Given the description of an element on the screen output the (x, y) to click on. 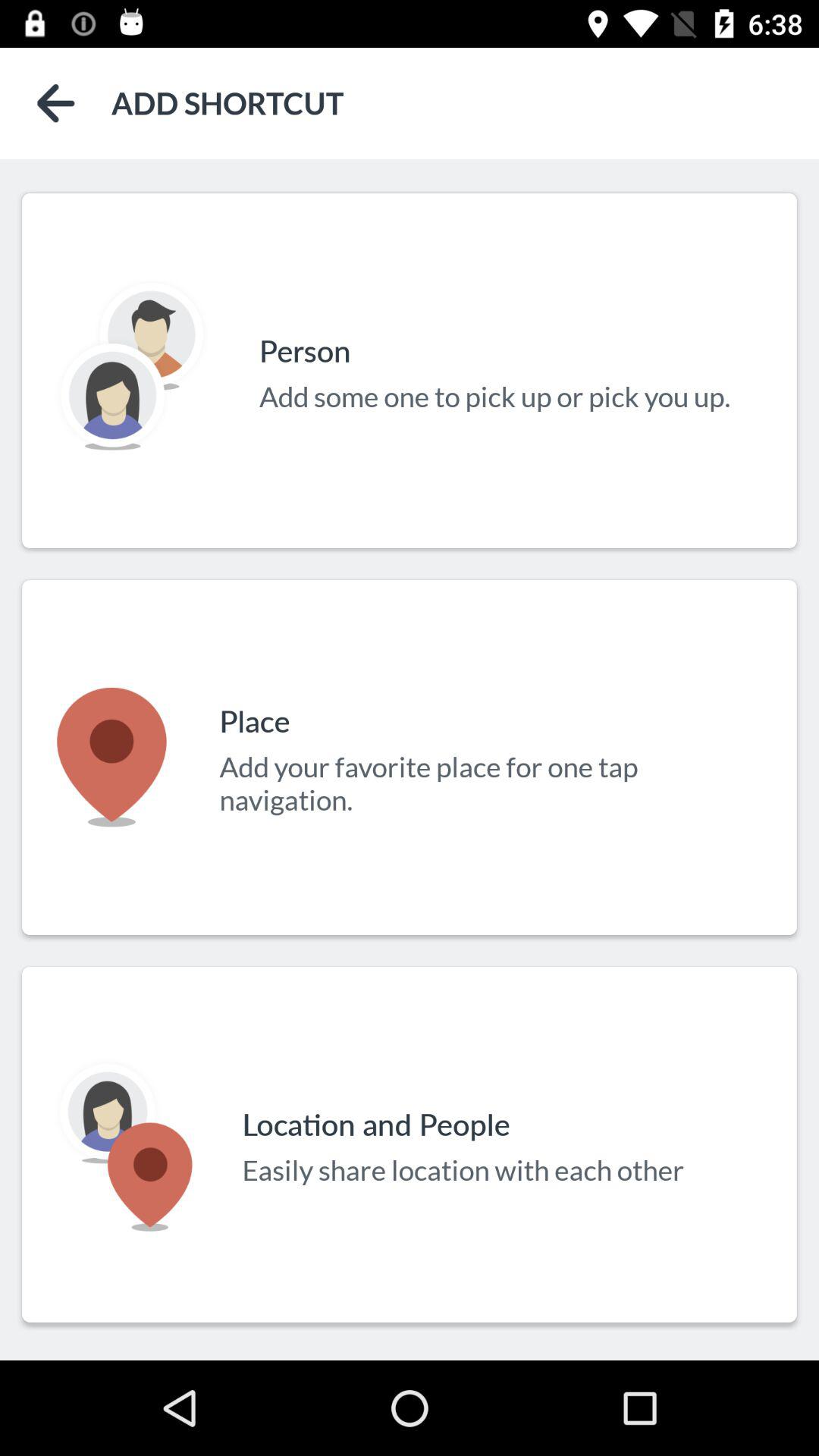
select the item to the left of add shortcut icon (55, 103)
